Given the description of an element on the screen output the (x, y) to click on. 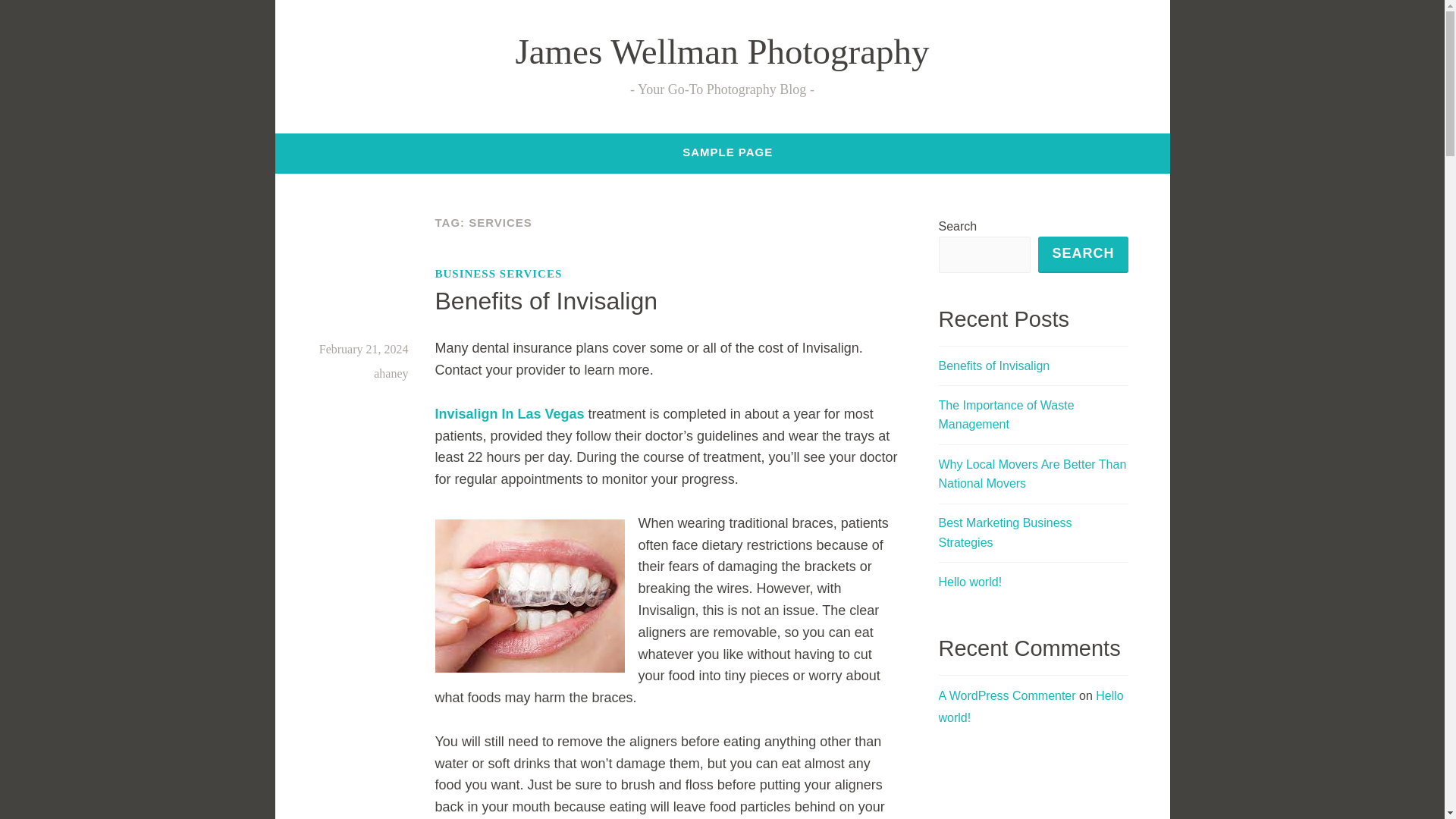
Why Local Movers Are Better Than National Movers (1032, 473)
James Wellman Photography (721, 51)
ahaney (390, 373)
February 21, 2024 (363, 349)
Benefits of Invisalign (546, 300)
Hello world! (971, 581)
The Importance of Waste Management (1006, 414)
Benefits of Invisalign (994, 365)
Invisalign In Las Vegas (510, 413)
SAMPLE PAGE (727, 152)
SEARCH (1082, 254)
BUSINESS SERVICES (498, 273)
A WordPress Commenter (1007, 695)
Best Marketing Business Strategies (1005, 532)
Hello world! (1031, 706)
